Given the description of an element on the screen output the (x, y) to click on. 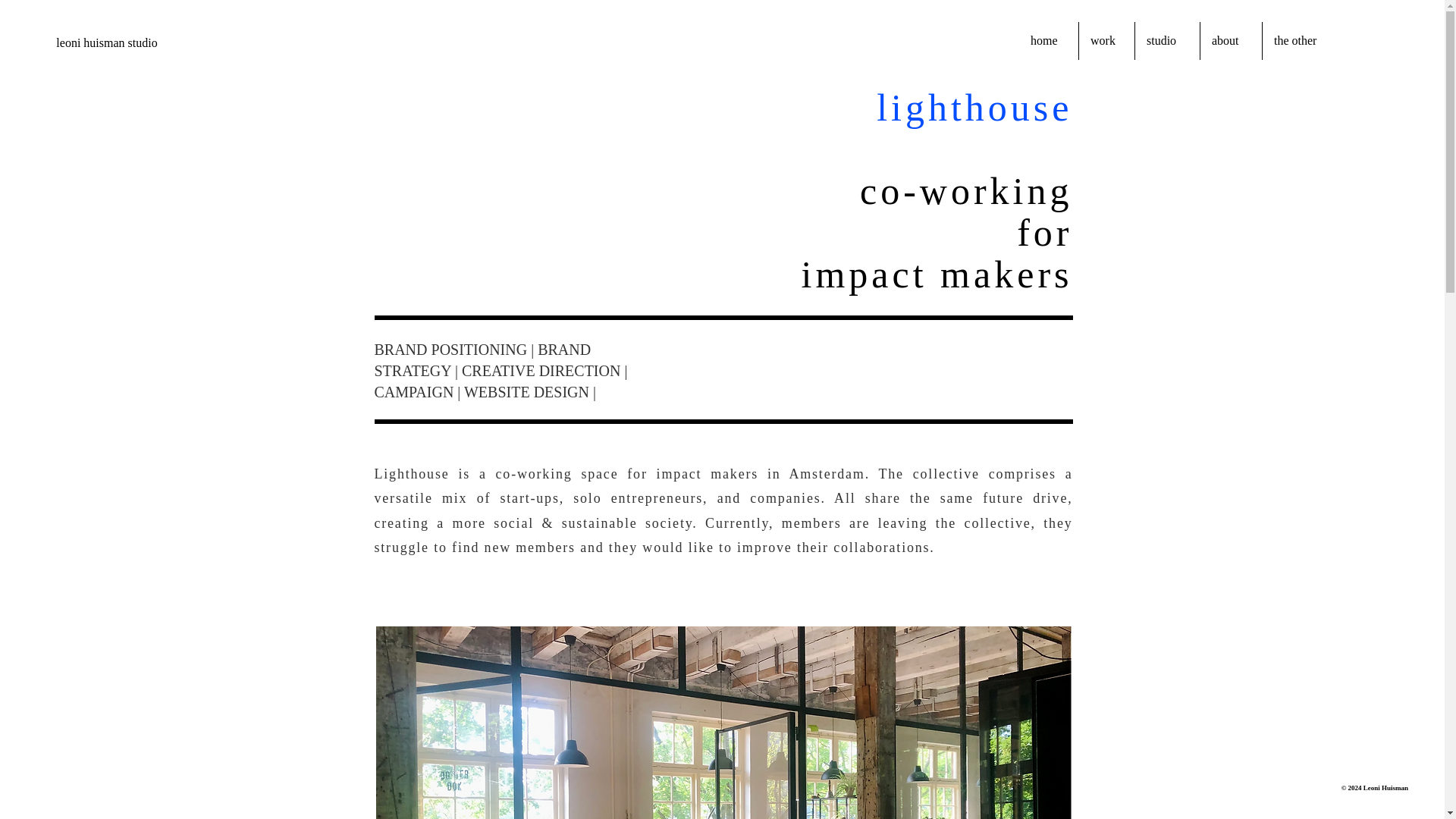
about (1230, 40)
studio (1167, 40)
work (1106, 40)
home (1048, 40)
the other (1305, 40)
leoni huisman studio (106, 43)
